Given the description of an element on the screen output the (x, y) to click on. 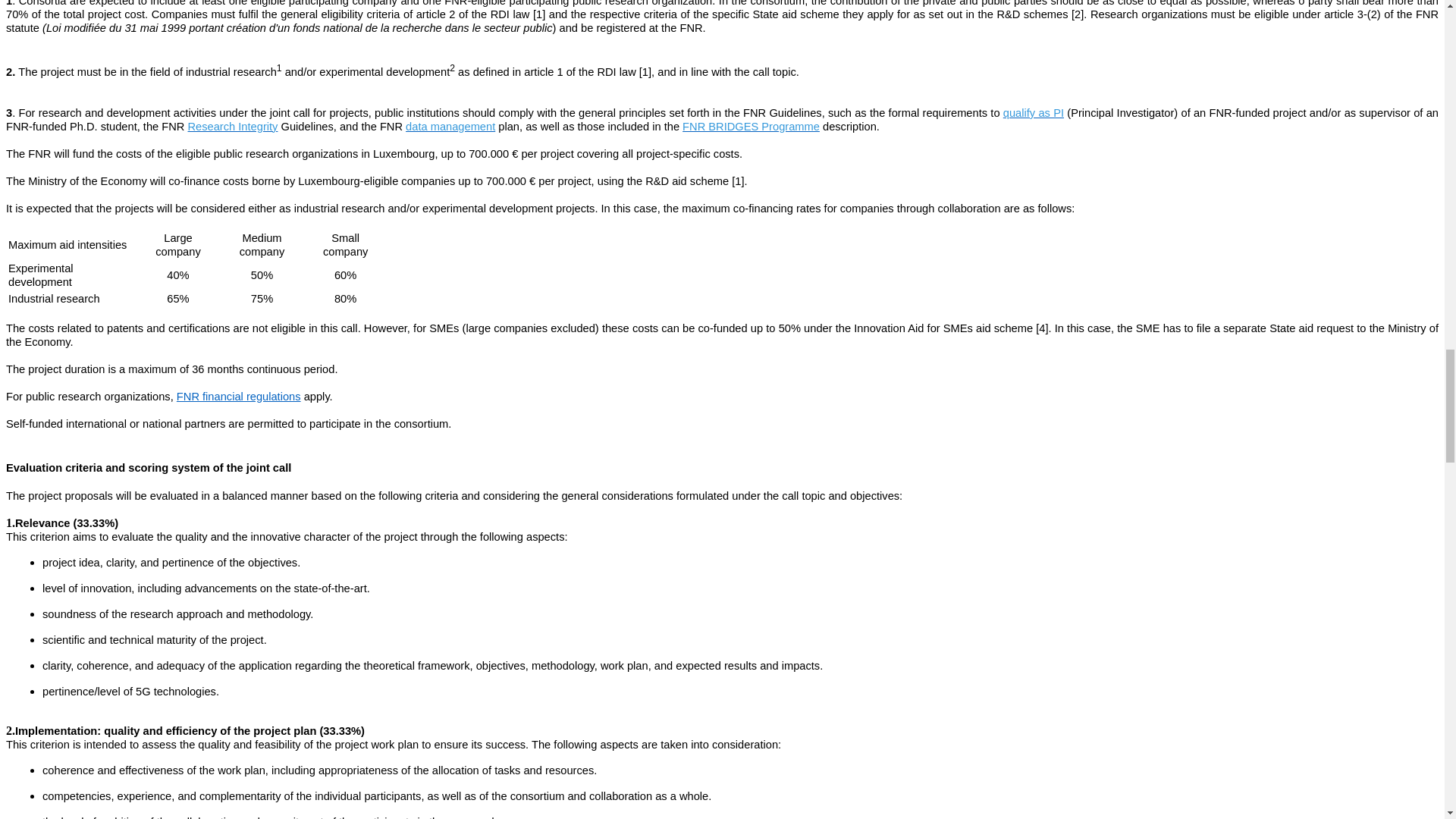
FNR BRIDGES Programme (750, 126)
qualify as PI (1033, 112)
data management (450, 126)
FNR financial regulations (238, 396)
Research Integrity (232, 126)
